Given the description of an element on the screen output the (x, y) to click on. 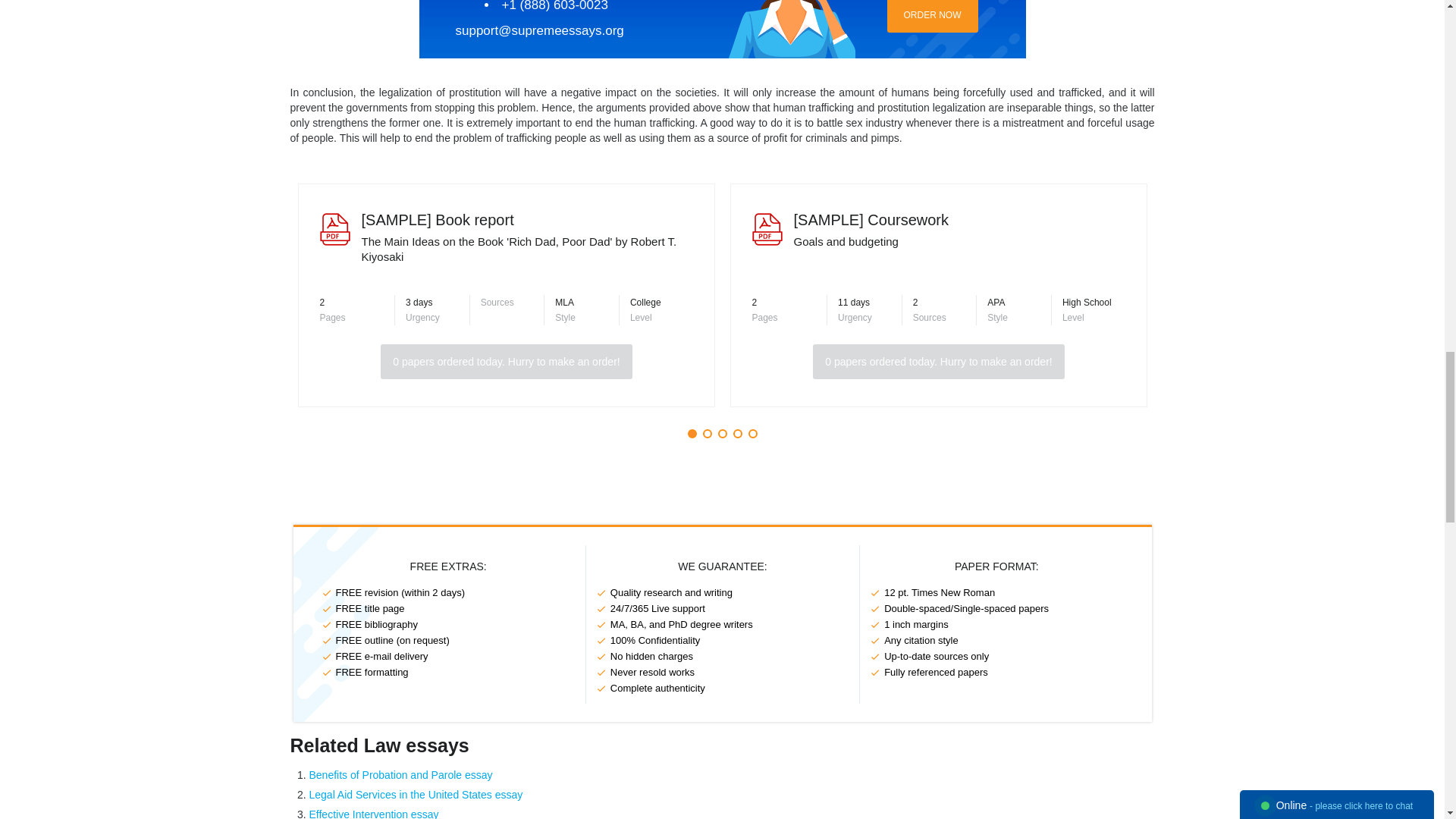
Benefits of Probation and Parole essay (400, 775)
Legal Aid Services in the United States essay (415, 794)
ORDER NOW (932, 16)
